Given the description of an element on the screen output the (x, y) to click on. 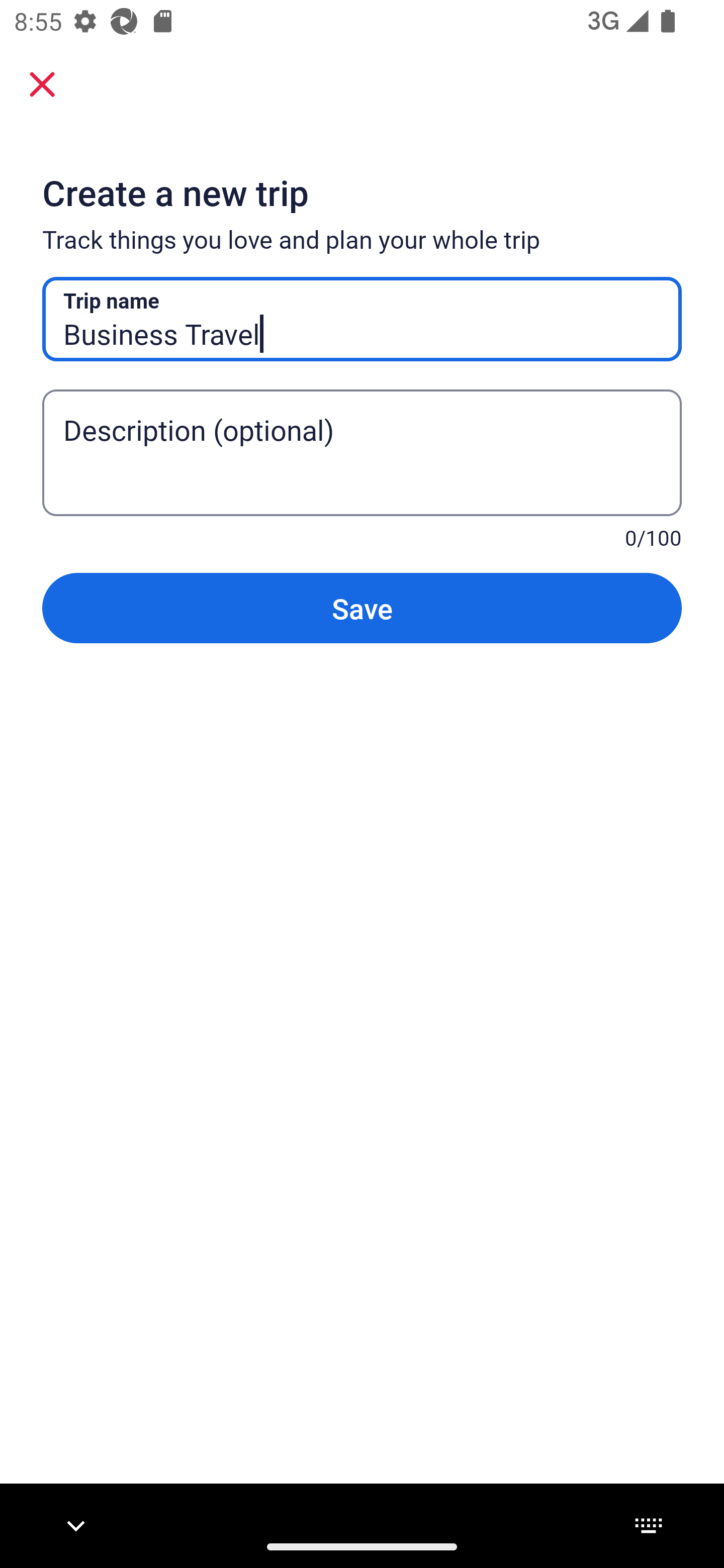
Close (41, 83)
Business Travel Trip name Trip name (361, 318)
Save Button Save (361, 607)
